Given the description of an element on the screen output the (x, y) to click on. 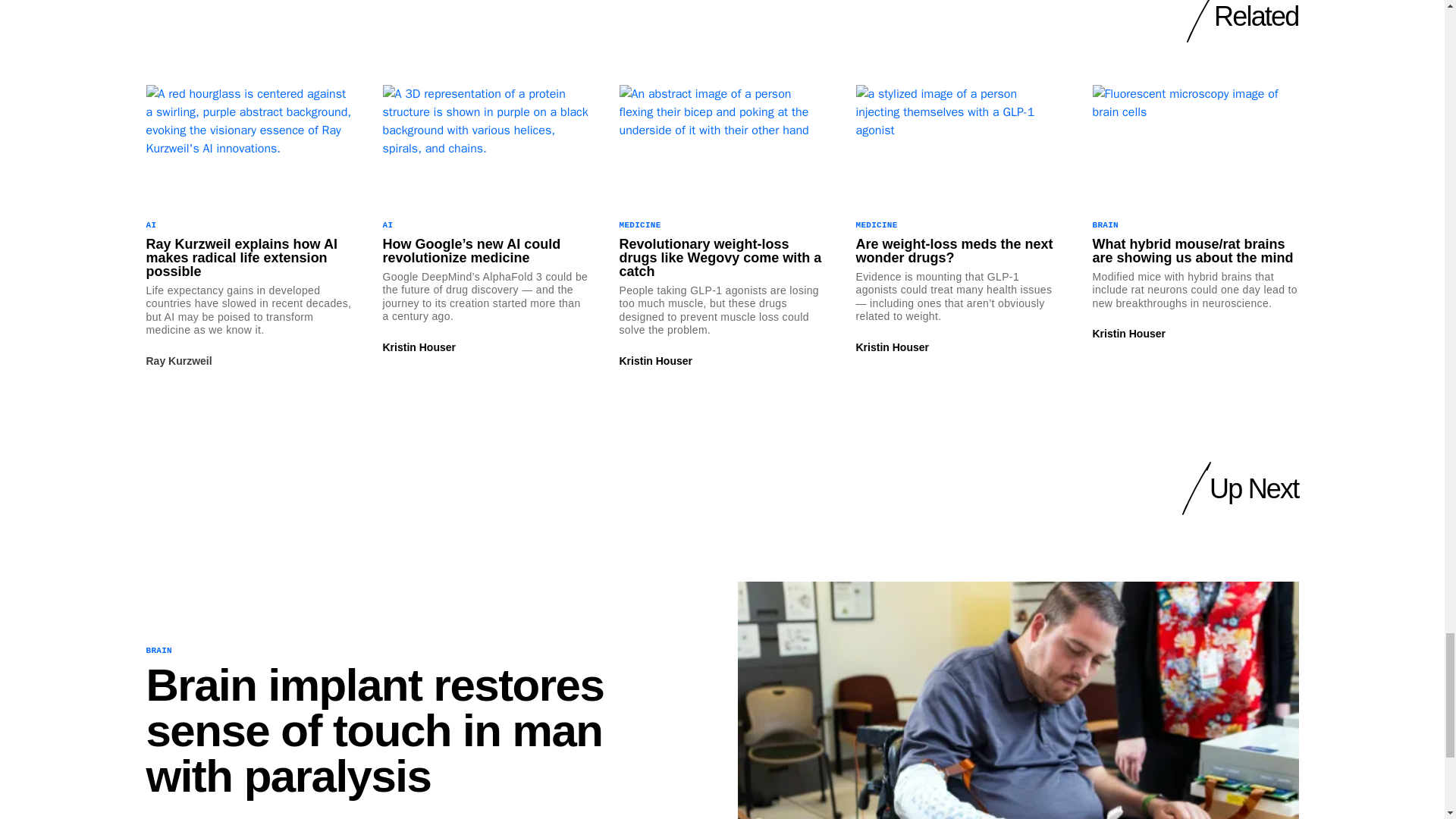
AI (150, 225)
AI (387, 225)
Kristin Houser (417, 346)
